Given the description of an element on the screen output the (x, y) to click on. 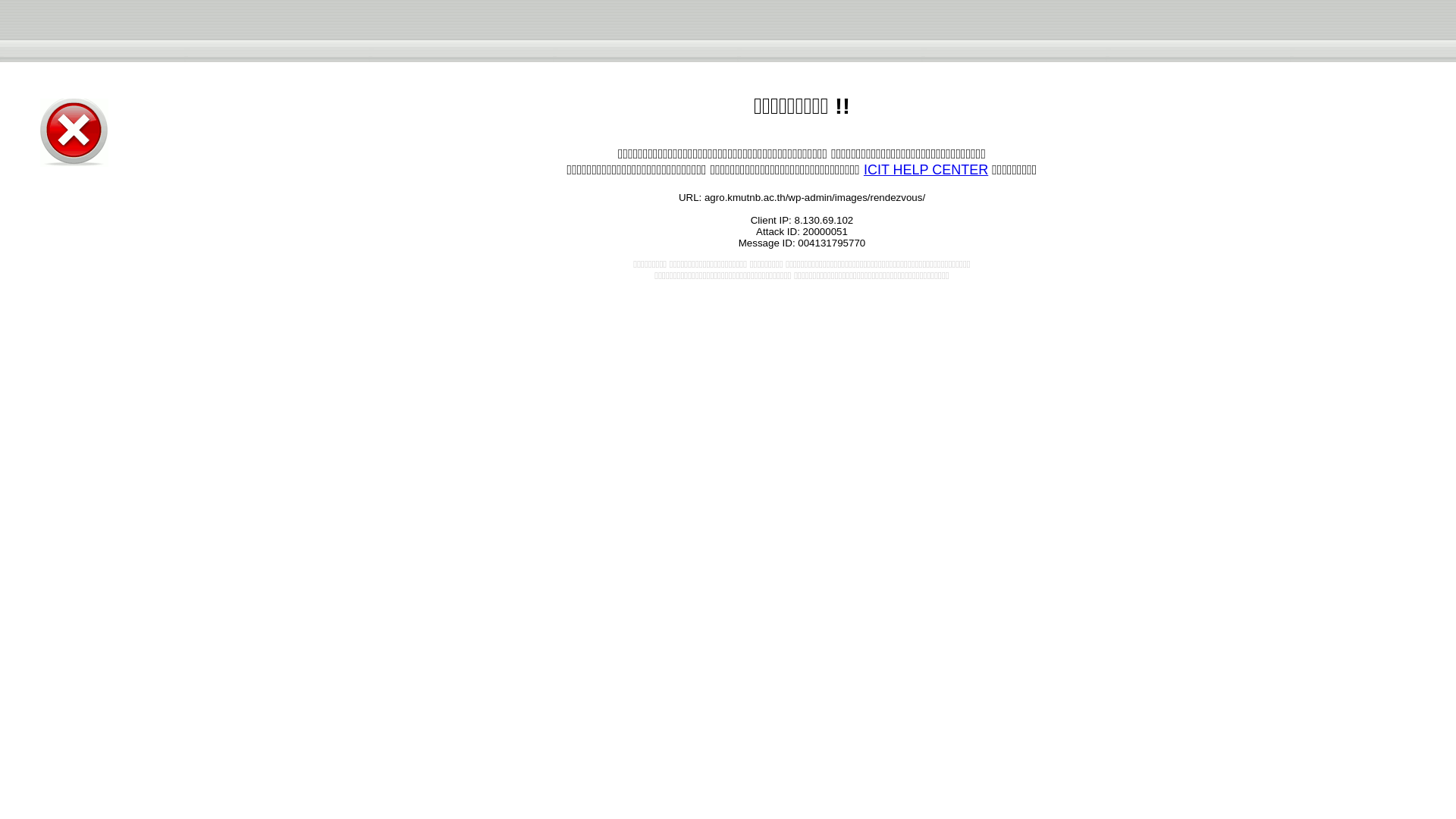
ICIT HELP CENTER (925, 169)
